Given the description of an element on the screen output the (x, y) to click on. 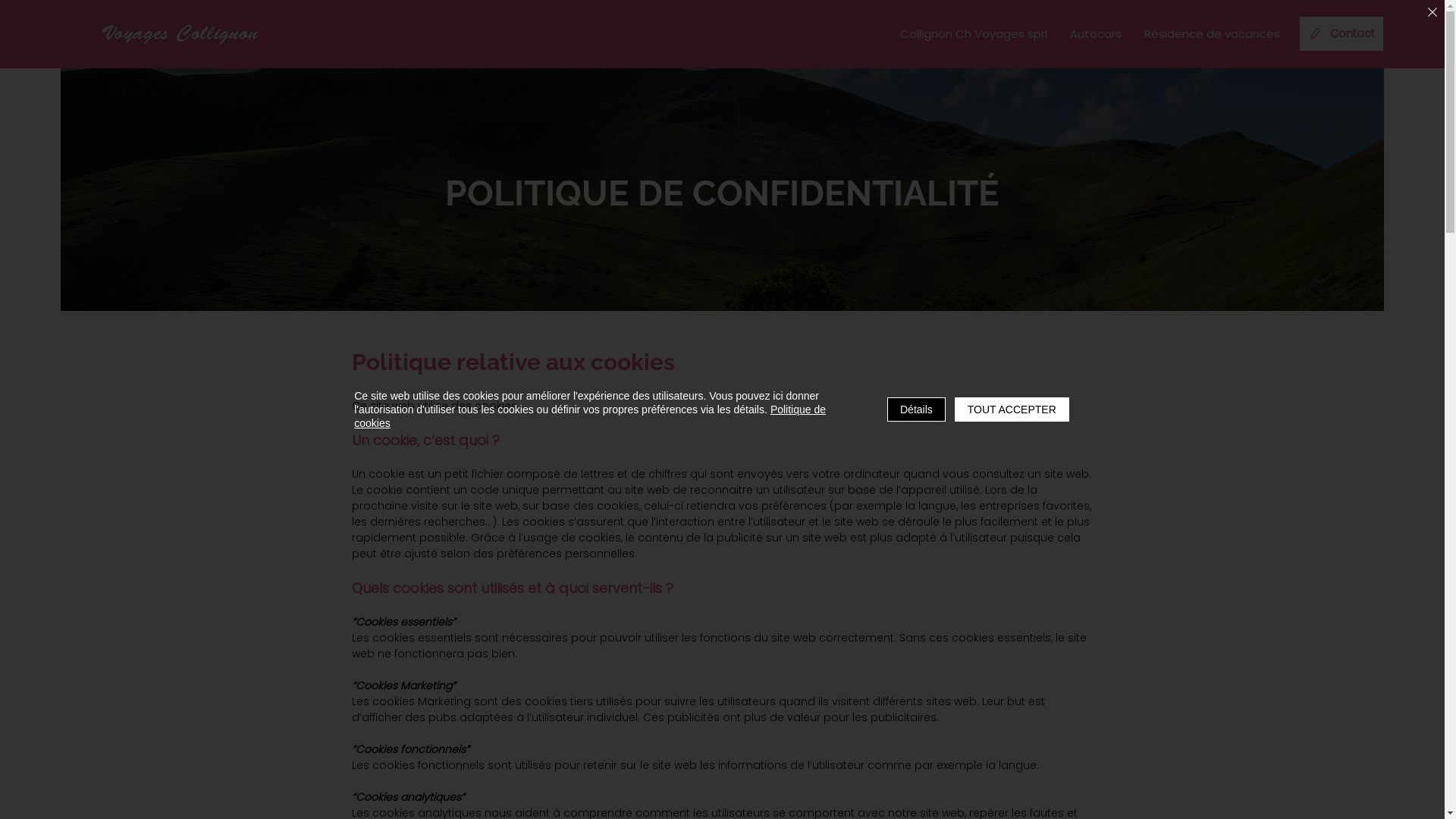
Autocars Element type: text (1095, 34)
Contact Element type: text (1341, 33)
TOUT ACCEPTER Element type: text (1011, 409)
Politique de cookies Element type: text (589, 416)
Collignon Ch Voyages sprl Element type: text (973, 34)
